Given the description of an element on the screen output the (x, y) to click on. 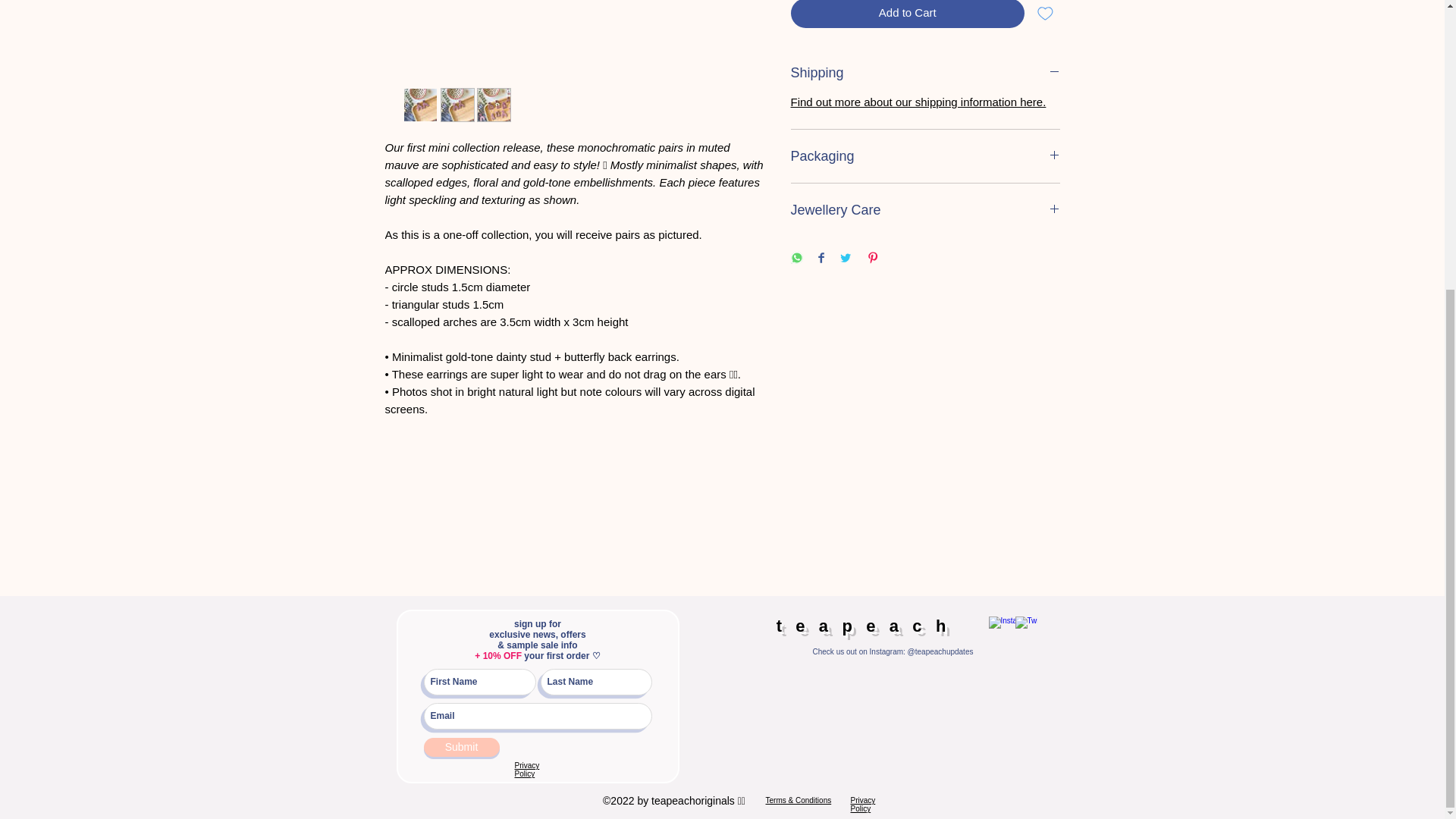
Privacy Policy (525, 769)
Shipping (924, 72)
Find out more about our shipping information here. (917, 101)
Privacy Policy (863, 804)
Packaging (924, 156)
Add to Cart (907, 13)
Jewellery Care (924, 209)
t   e   a   p   e   a   c   h (861, 625)
Submit (461, 746)
